Given the description of an element on the screen output the (x, y) to click on. 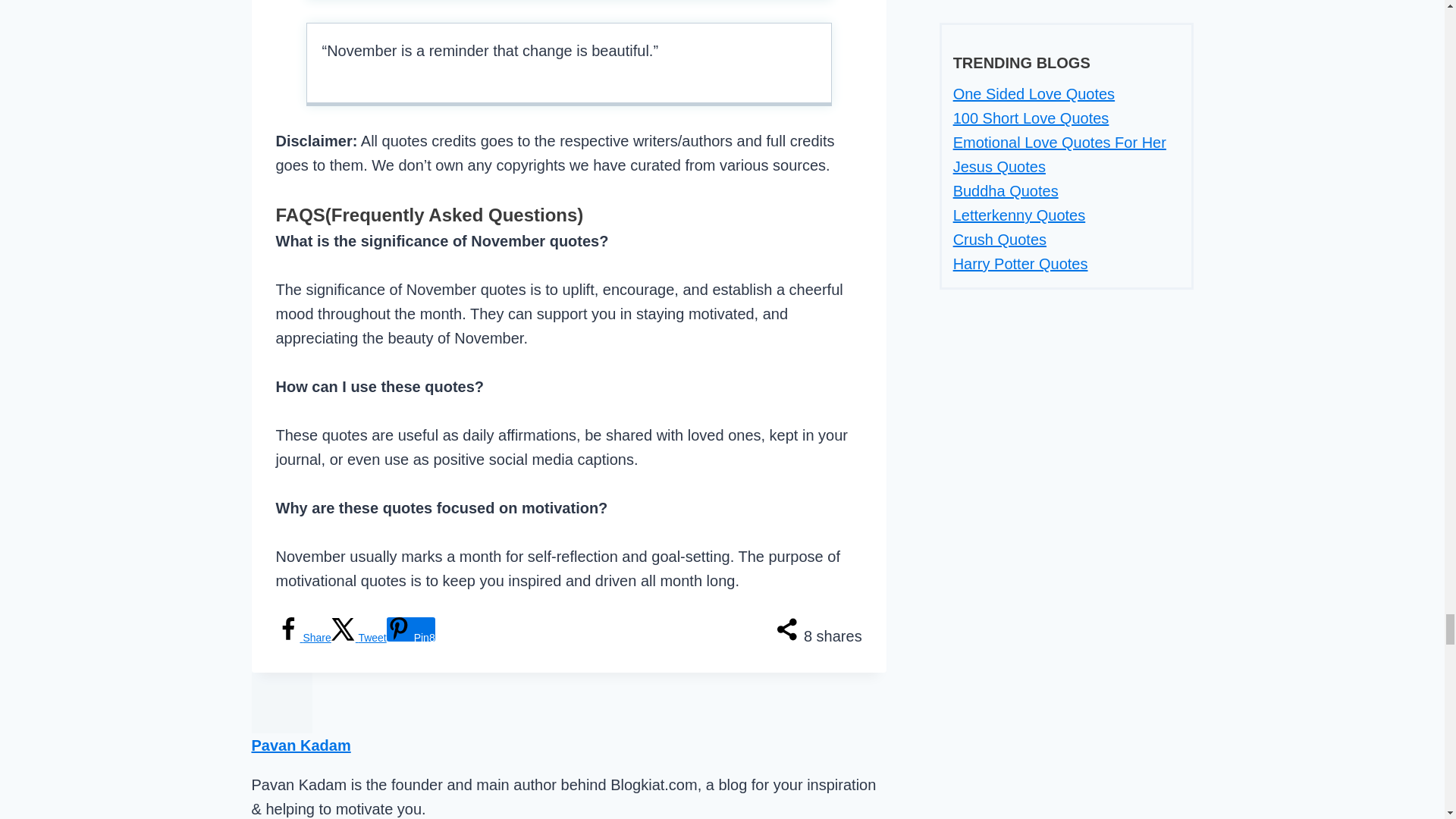
Pin8 (411, 629)
Share on X (359, 637)
Pavan Kadam (300, 745)
Gravatar for Pavan Kadam (282, 702)
Save to Pinterest (411, 629)
Tweet (359, 637)
Share (303, 637)
Posts by Pavan Kadam (300, 745)
Share on Facebook (303, 637)
